Given the description of an element on the screen output the (x, y) to click on. 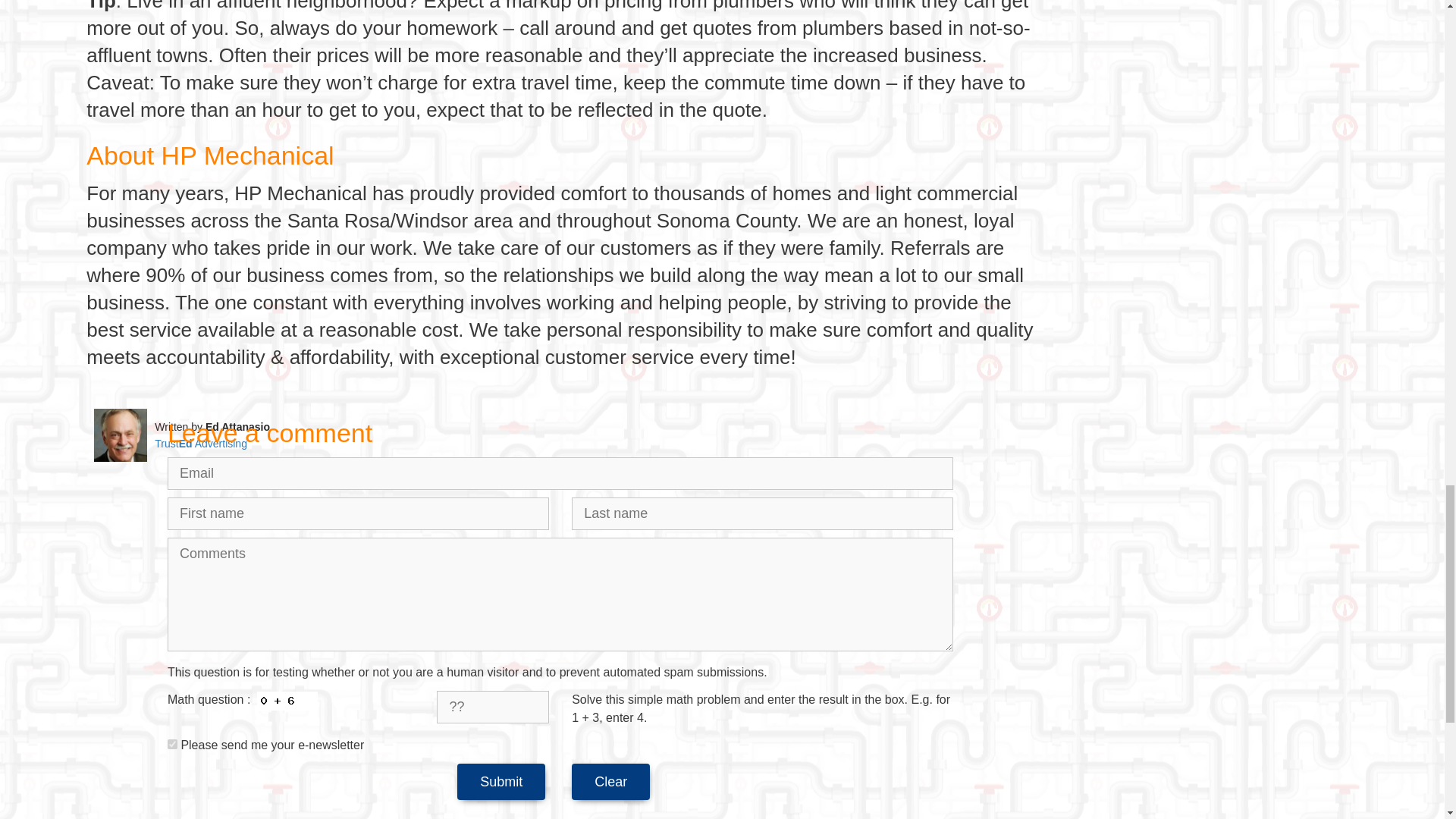
Clear (610, 781)
Ed Attanasio, copywriter (120, 434)
on (172, 744)
Submit (500, 781)
TrustEd Advertising (200, 443)
